Given the description of an element on the screen output the (x, y) to click on. 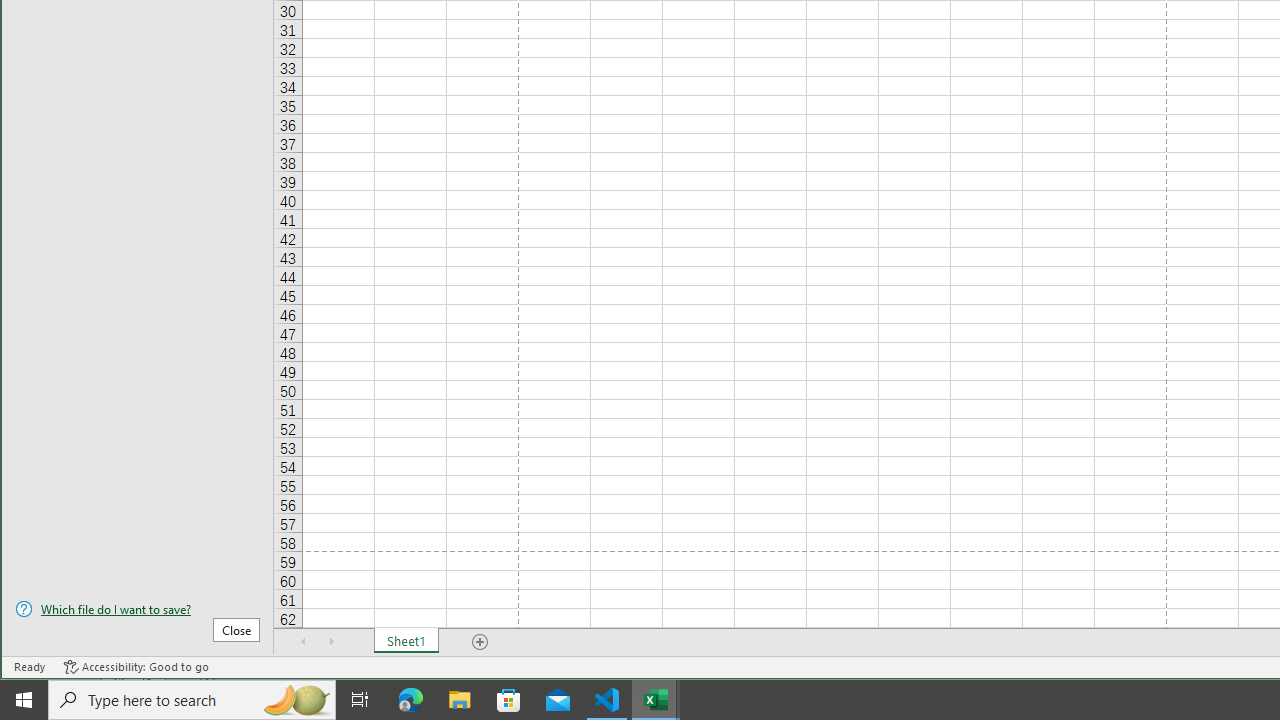
Start (24, 699)
